Given the description of an element on the screen output the (x, y) to click on. 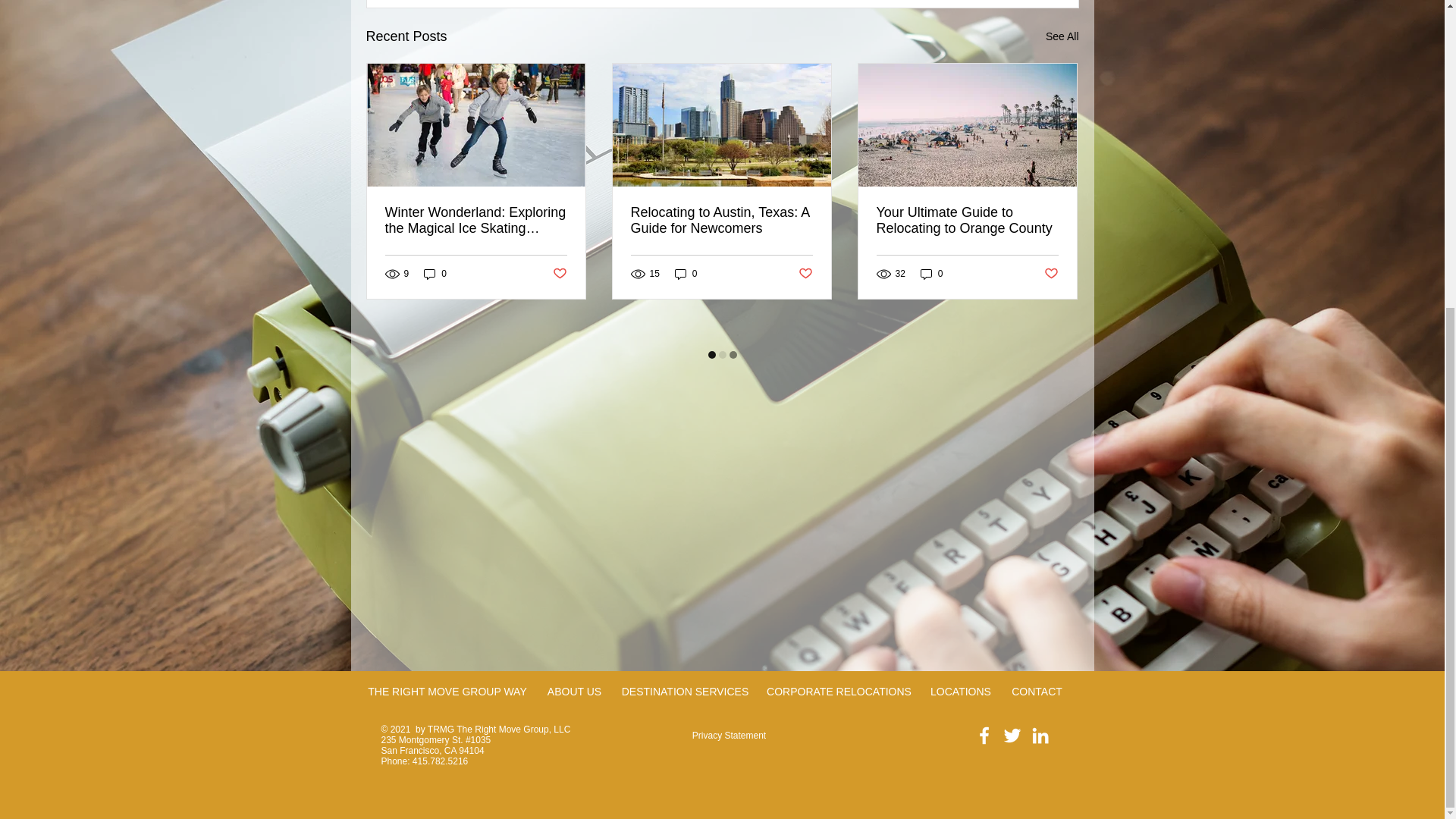
Privacy Statement (729, 735)
DESTINATION SERVICES (685, 691)
CONTACT (1036, 691)
THE RIGHT MOVE GROUP WAY (446, 691)
Your Ultimate Guide to Relocating to Orange County (967, 220)
LOCATIONS (960, 691)
0 (435, 273)
Post not marked as liked (1050, 273)
See All (1061, 36)
